Given the description of an element on the screen output the (x, y) to click on. 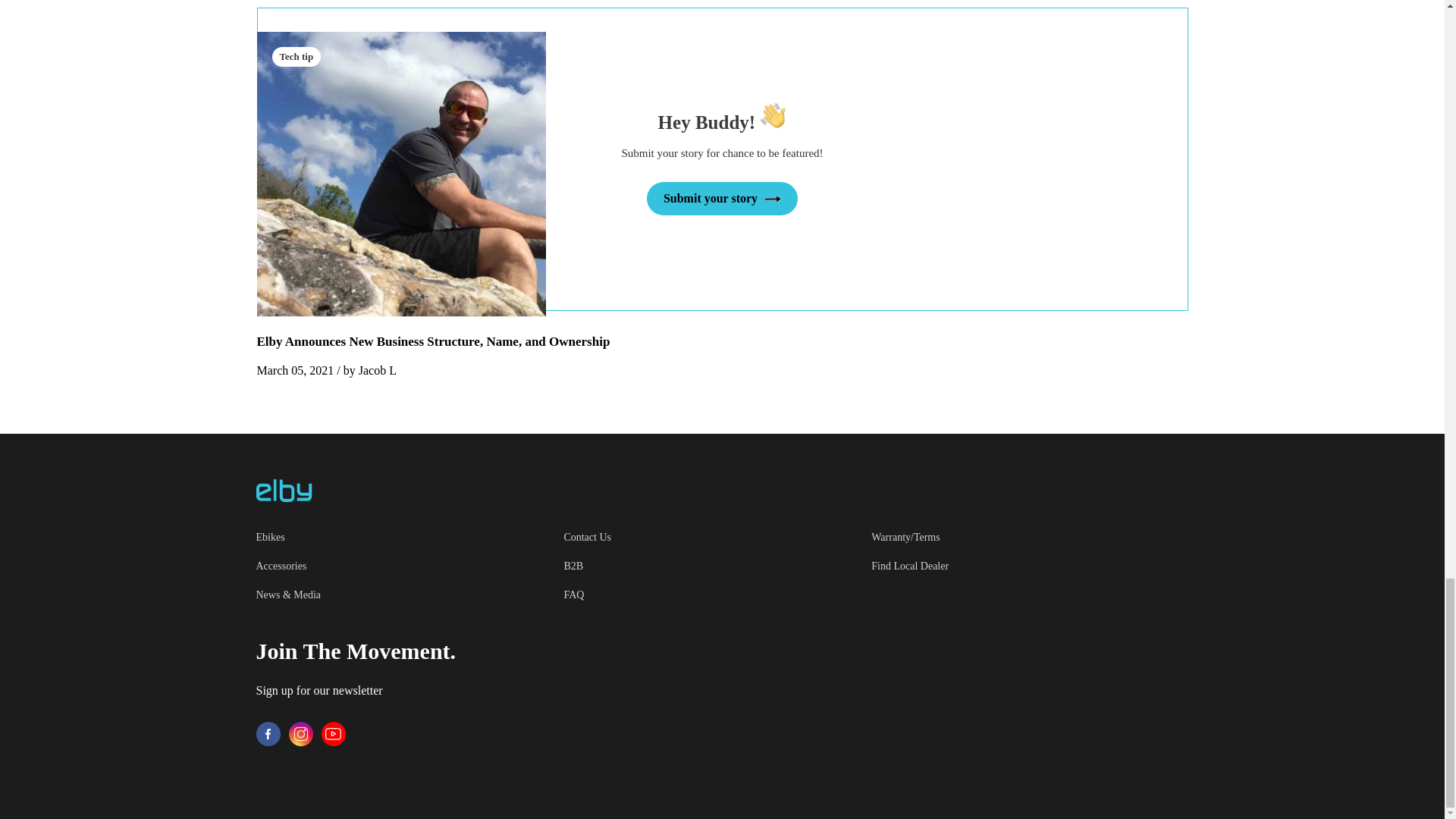
Instagram (300, 742)
Faacebook (268, 742)
Youtube (333, 742)
